Given the description of an element on the screen output the (x, y) to click on. 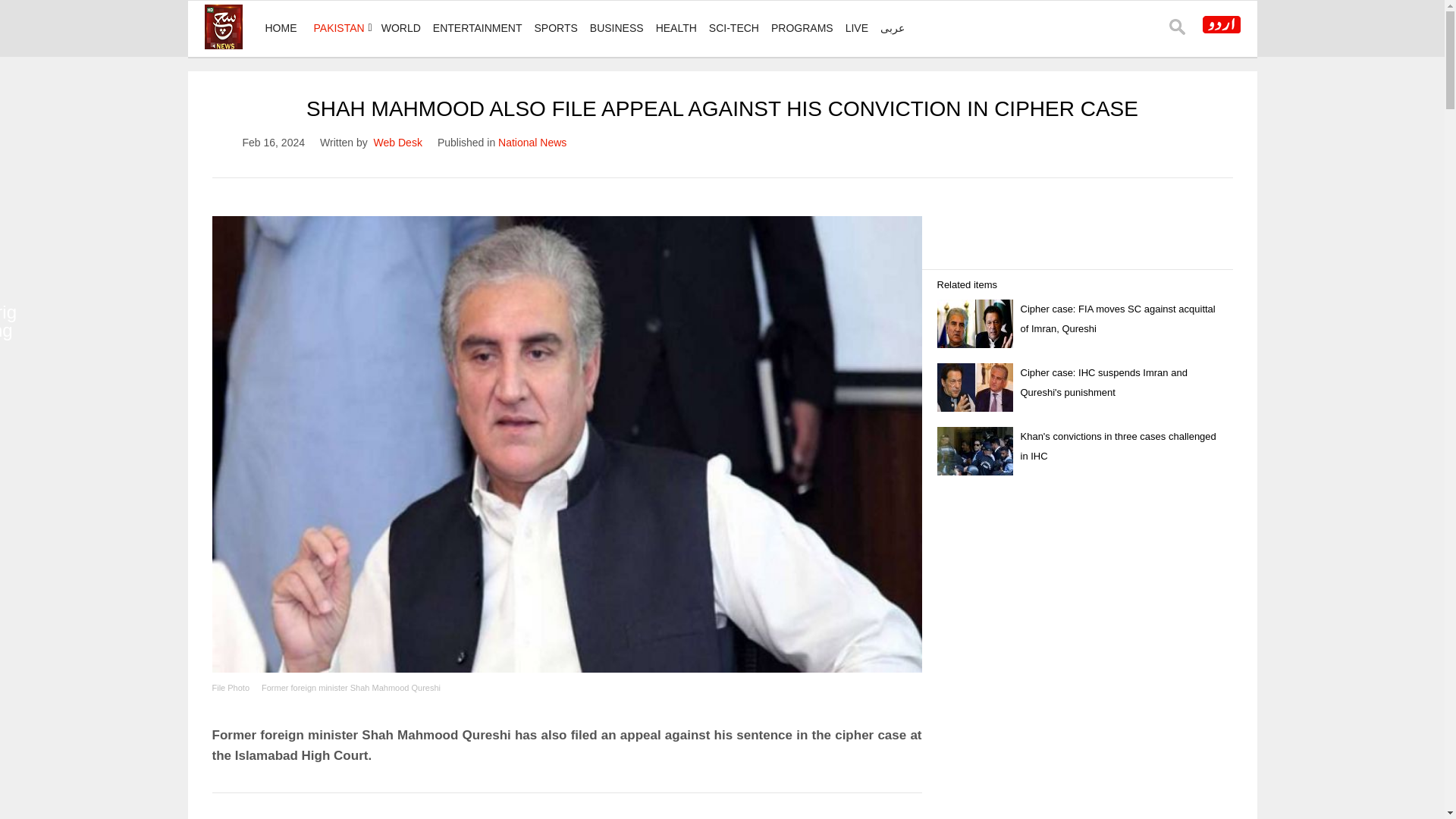
Advertisement (566, 809)
Cipher case: IHC suspends Imran and Qureshi's punishment (1104, 382)
WORLD (400, 27)
HEALTH (676, 27)
ENTERTAINMENT (477, 27)
SPORTS (555, 27)
BUSINESS (616, 27)
PROGRAMS (802, 27)
Khan's convictions in three cases challenged in IHC (1117, 445)
SCI-TECH (734, 27)
PAKISTAN (338, 27)
Web Desk (398, 142)
National News (531, 142)
